Given the description of an element on the screen output the (x, y) to click on. 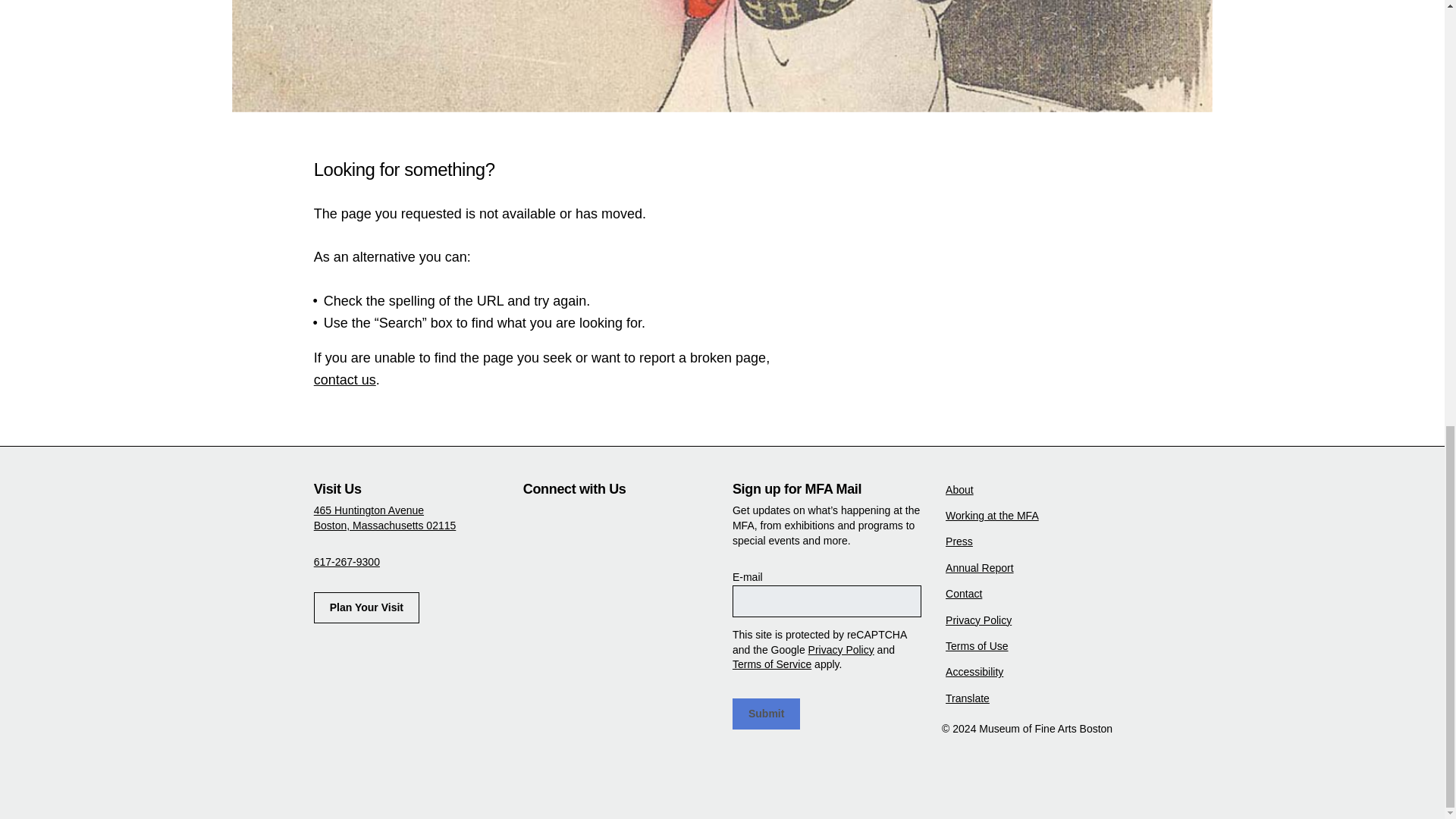
Submit (765, 714)
